Given the description of an element on the screen output the (x, y) to click on. 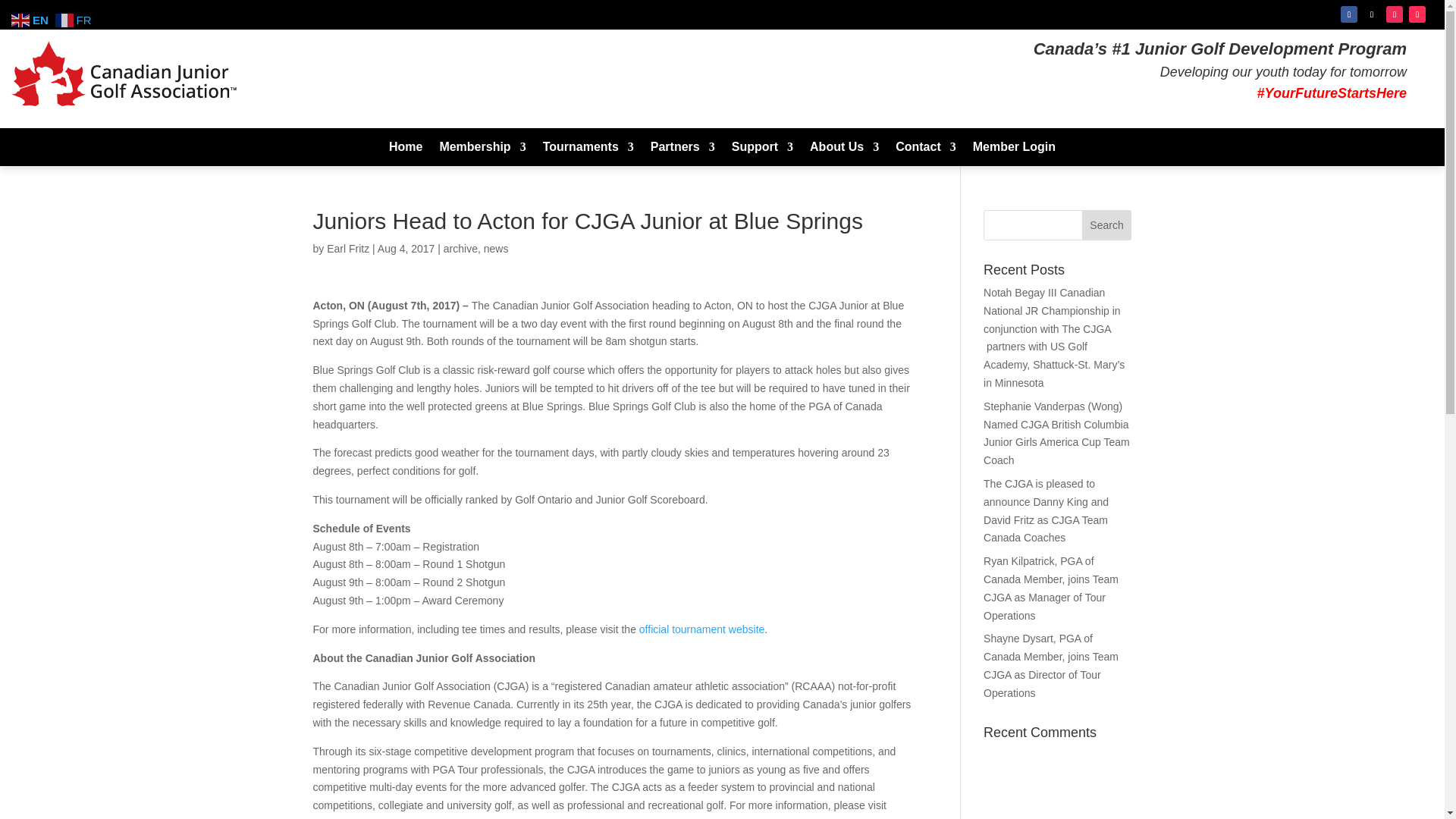
Membership (482, 149)
Follow on TikTok (1417, 13)
Home (405, 149)
About Us (844, 149)
canadian-junio-golf-association-logo (124, 73)
Tournaments (588, 149)
Follow on Instagram (1394, 13)
Follow on X (1371, 13)
Follow on Facebook (1348, 13)
Search (1106, 224)
Support (762, 149)
Posts by Earl Fritz (347, 248)
Partners (682, 149)
English (31, 19)
